Given the description of an element on the screen output the (x, y) to click on. 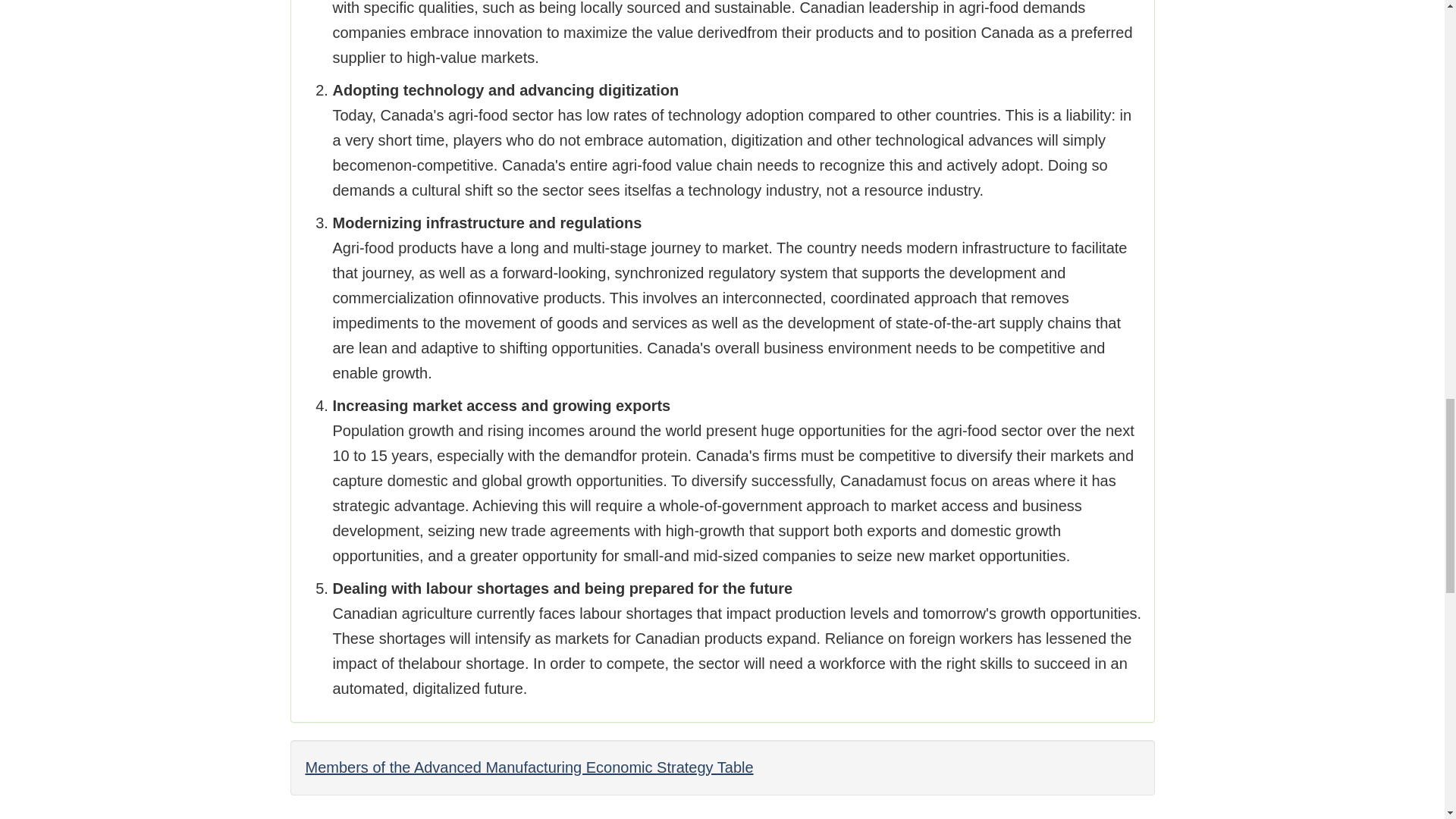
Economic Strategy Table - Agri-Food (528, 767)
